Given the description of an element on the screen output the (x, y) to click on. 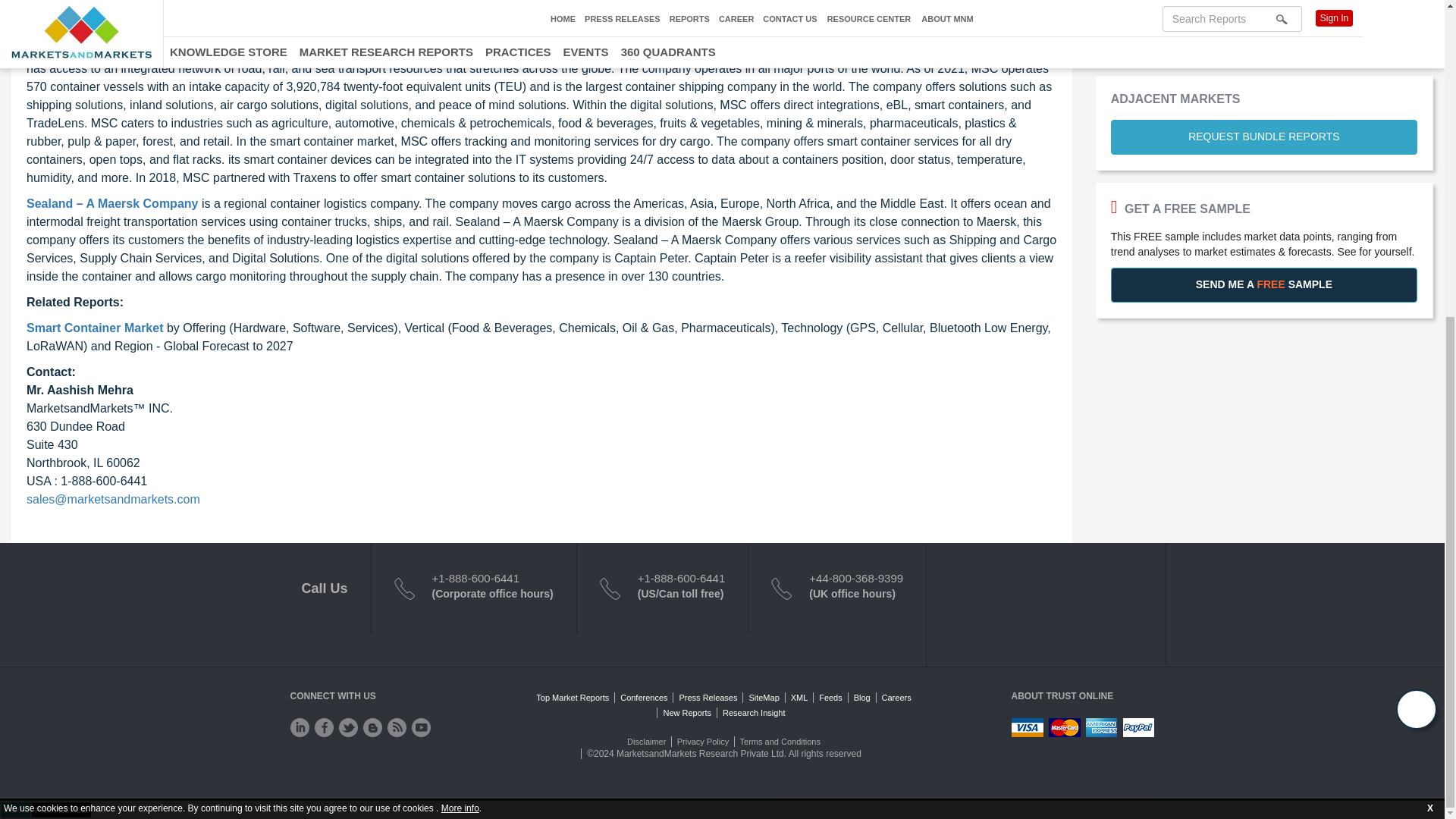
BUY NOW (1263, 9)
MSC (39, 50)
More info (460, 298)
Smart Container Market (94, 327)
REQUEST BUNDLE REPORTS (1263, 136)
SEND ME A FREE SAMPLE (1263, 284)
Request New Version (1264, 38)
download the pdf brochure (411, 24)
